Given the description of an element on the screen output the (x, y) to click on. 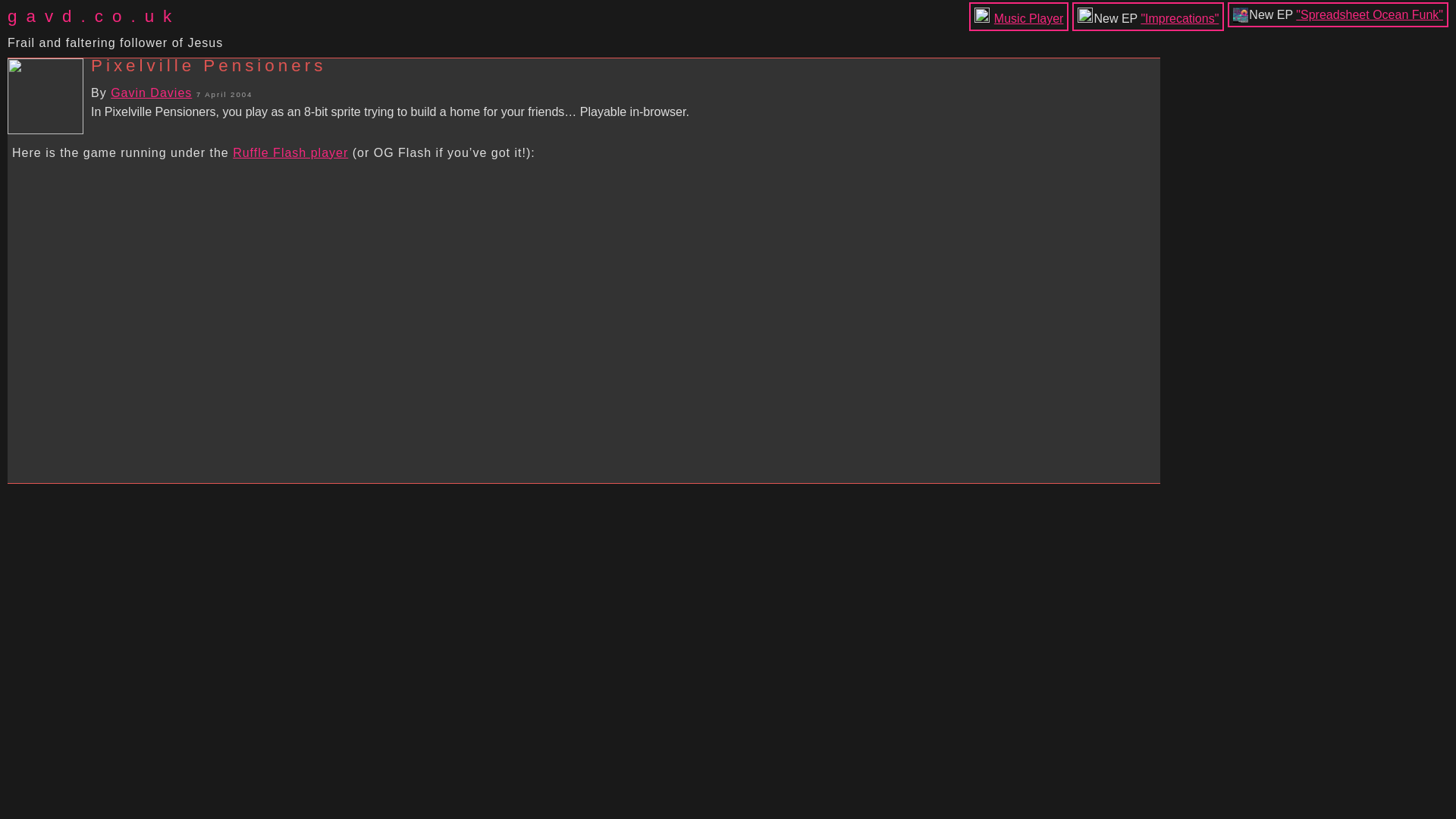
Reckoned As Dead EP released August 2024 (1179, 18)
"Imprecations" (1179, 18)
Music Player (1029, 18)
Ruffle Flash player (289, 152)
Shinbones Man EP released August 2024 (1368, 14)
Gavin Davies (151, 92)
Player for all the music on the site (1029, 18)
gavd.co.uk (114, 16)
"Spreadsheet Ocean Funk" (1368, 14)
